Given the description of an element on the screen output the (x, y) to click on. 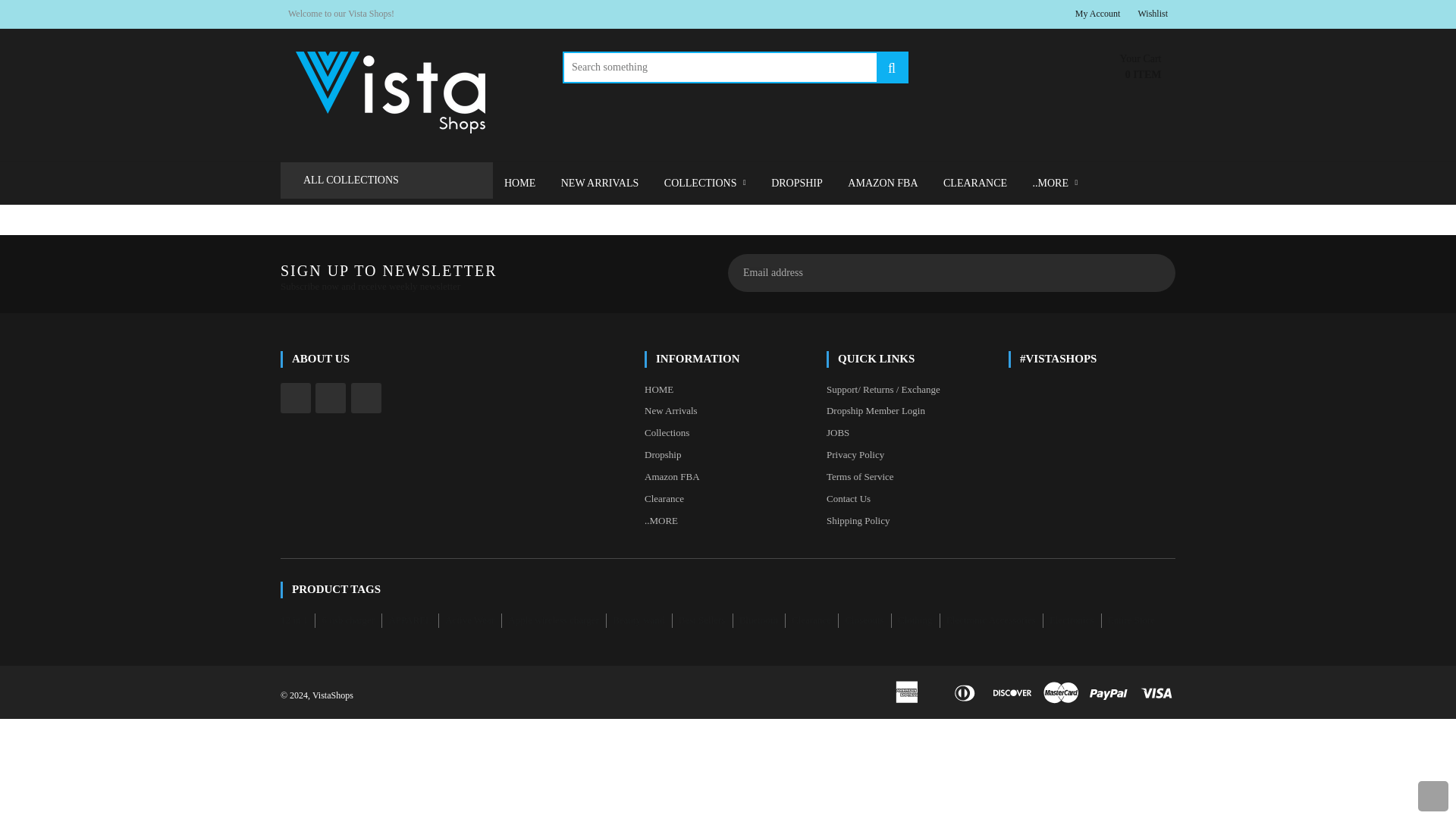
HOME (520, 183)
SEARCH (891, 68)
Wishlist (1152, 13)
My Account (1098, 13)
